Given the description of an element on the screen output the (x, y) to click on. 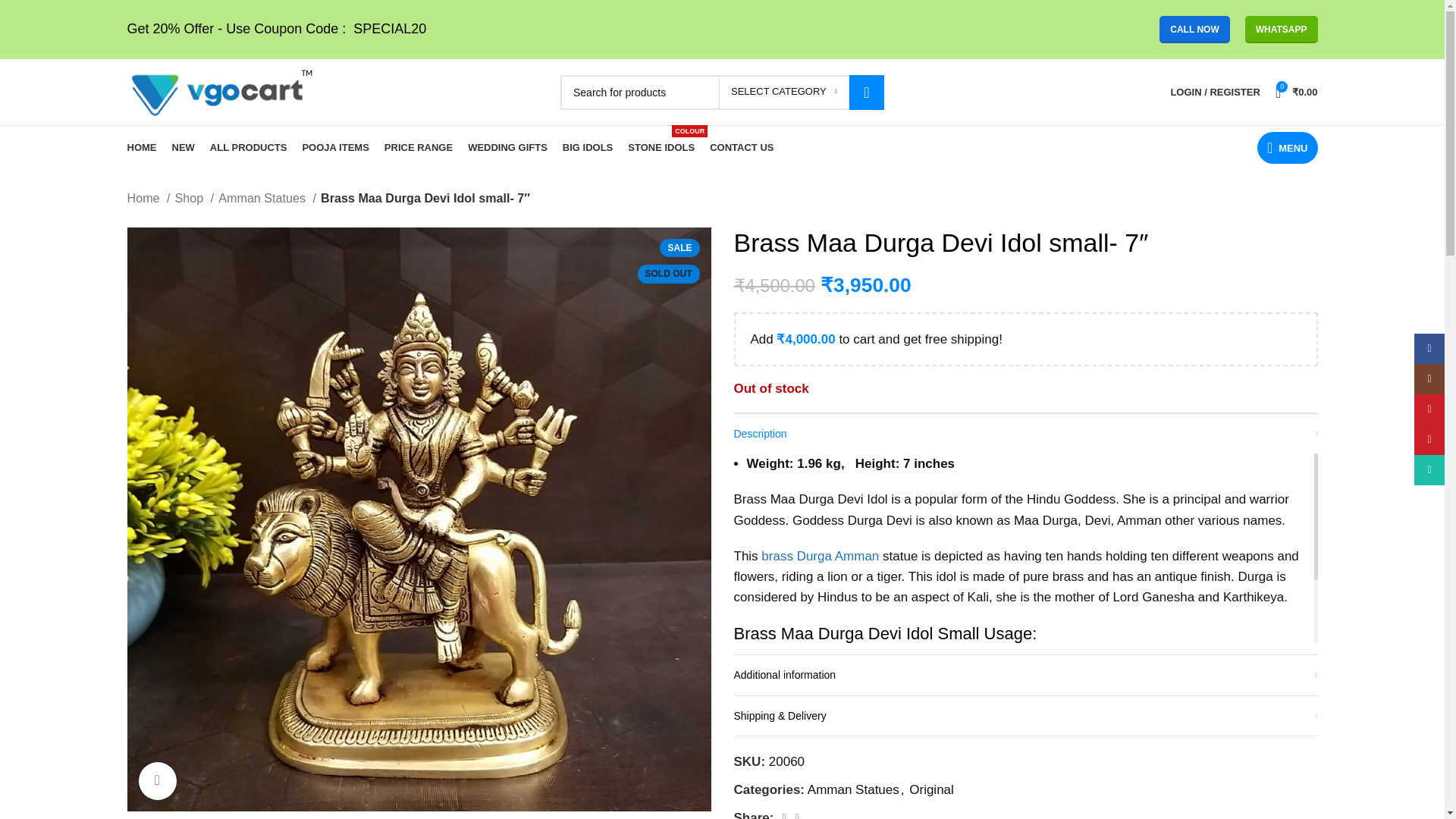
WHATSAPP (1280, 29)
SELECT CATEGORY (783, 91)
CALL NOW (1193, 29)
Shopping cart (1296, 91)
My account (1213, 91)
Search for products (721, 91)
SELECT CATEGORY (783, 91)
